Given the description of an element on the screen output the (x, y) to click on. 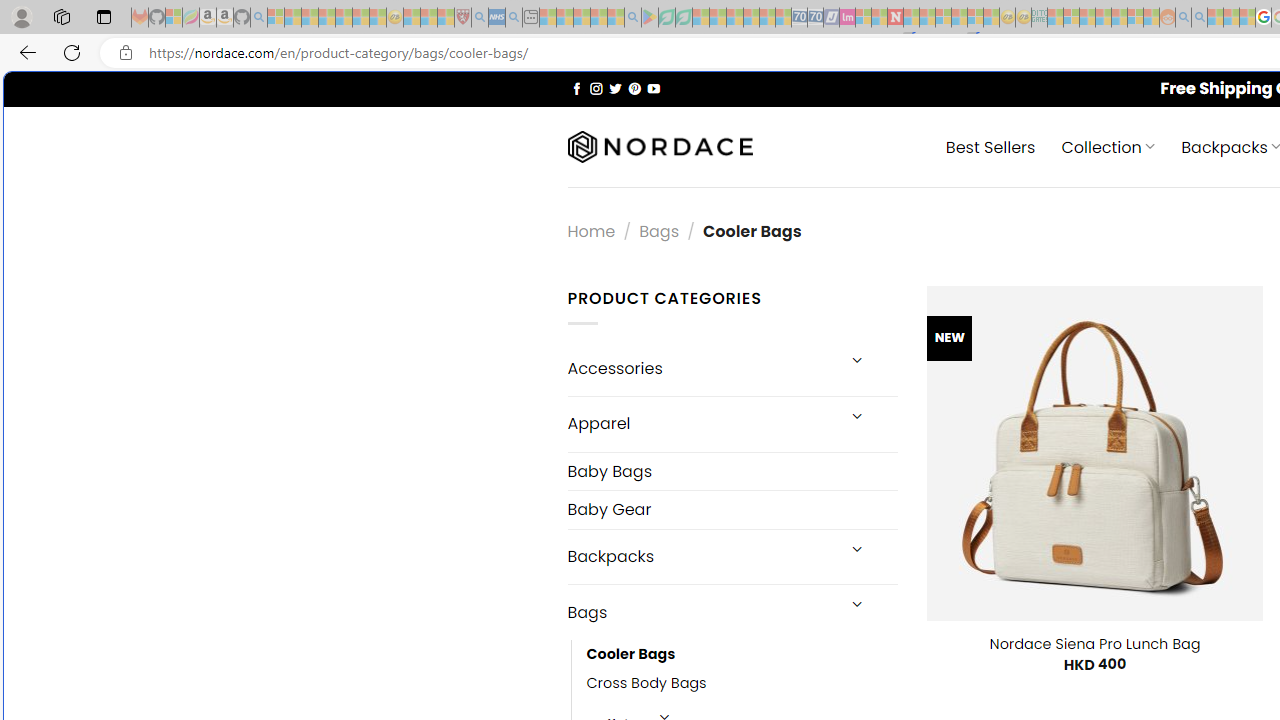
Backpacks (700, 556)
